Given the description of an element on the screen output the (x, y) to click on. 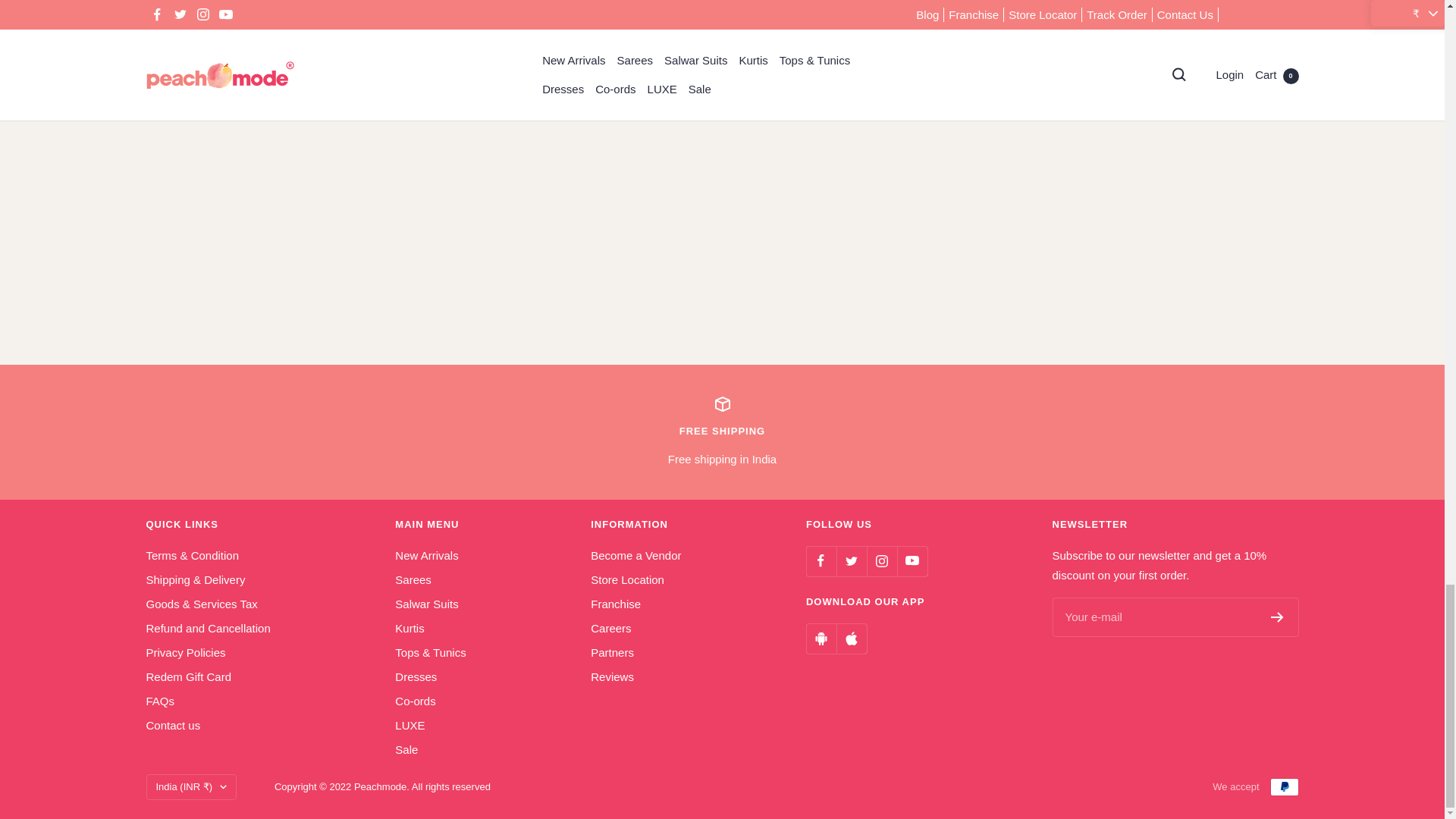
Register (1277, 616)
